Given the description of an element on the screen output the (x, y) to click on. 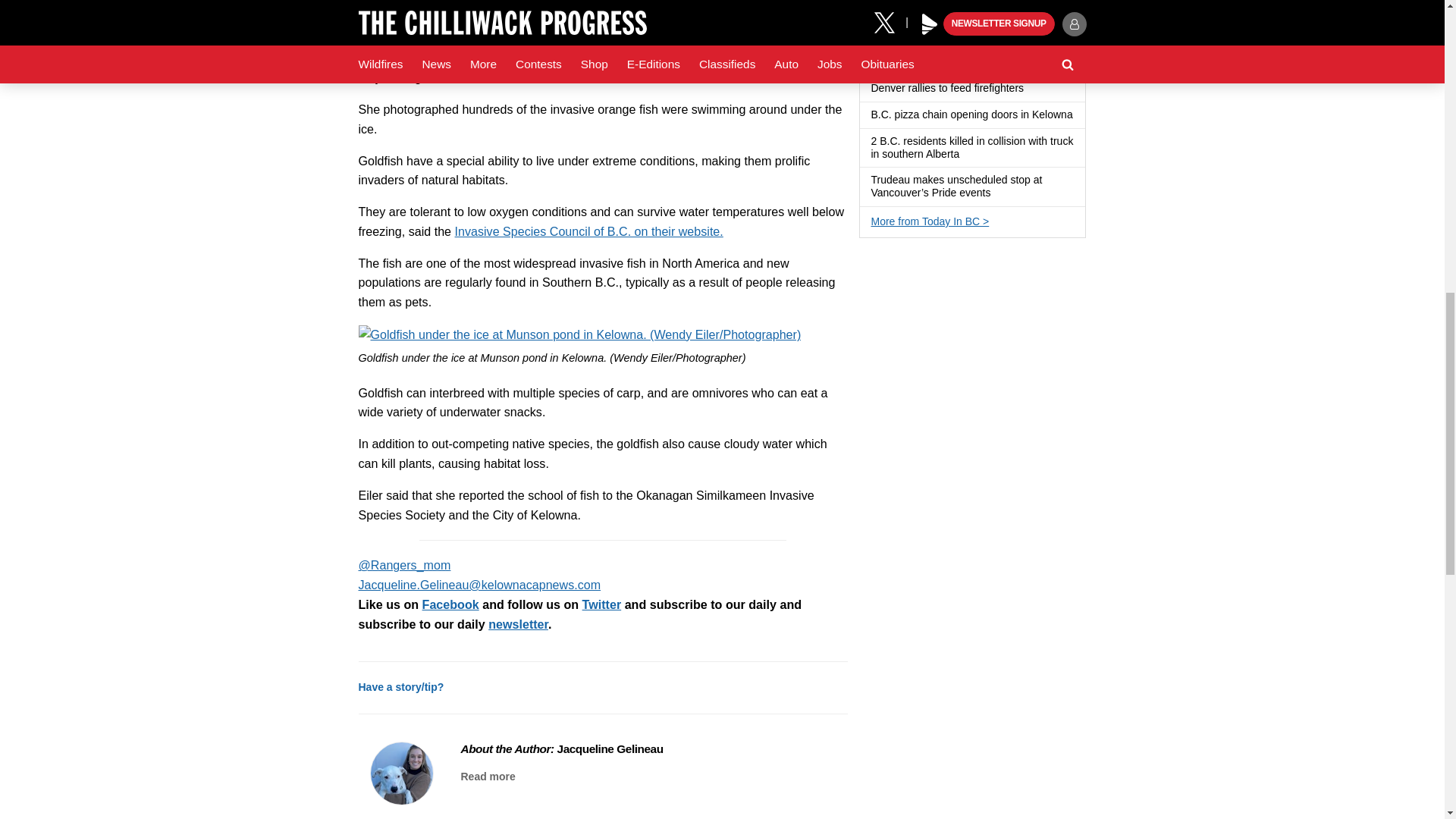
Has a gallery (876, 49)
Has a gallery (1032, 88)
